Given the description of an element on the screen output the (x, y) to click on. 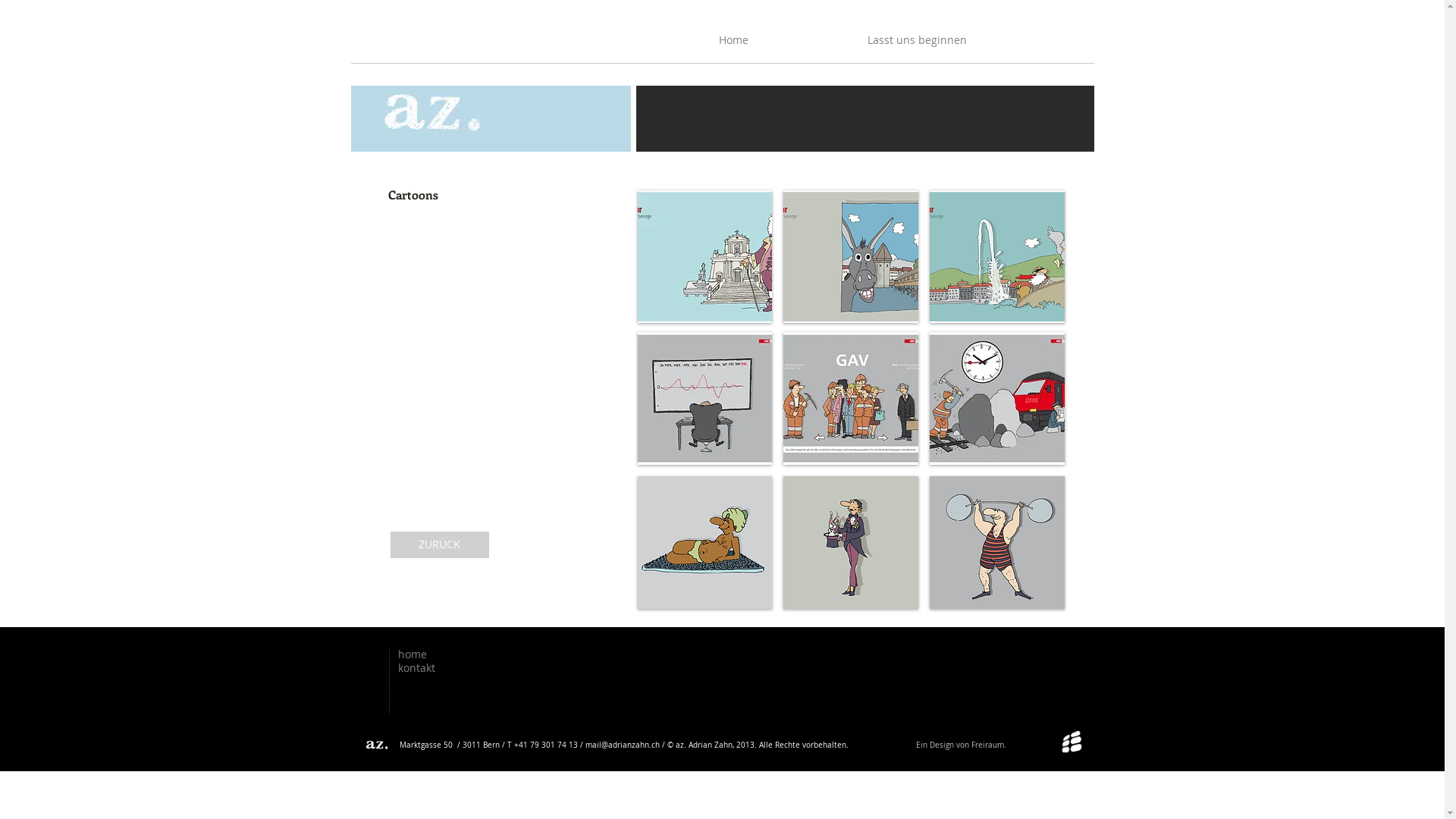
Lasst uns beginnen Element type: text (917, 44)
mail@adrianzahn.ch Element type: text (622, 744)
Freiraum. Element type: text (987, 744)
Home Element type: text (733, 44)
home Element type: text (411, 653)
az. Adrian Zahn Element type: hover (377, 744)
kontakt Element type: text (415, 667)
